Given the description of an element on the screen output the (x, y) to click on. 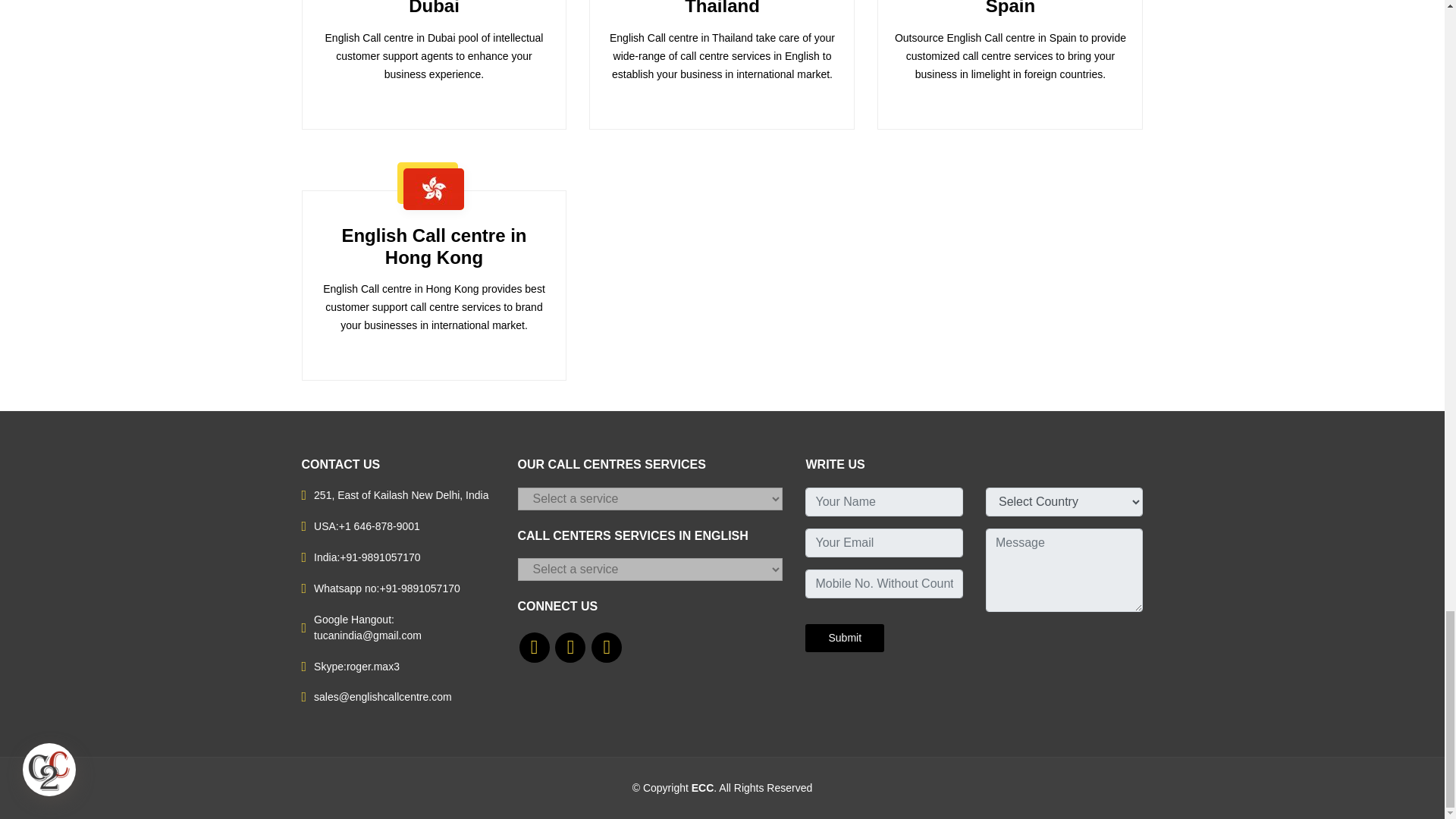
WRITE US (844, 637)
